Given the description of an element on the screen output the (x, y) to click on. 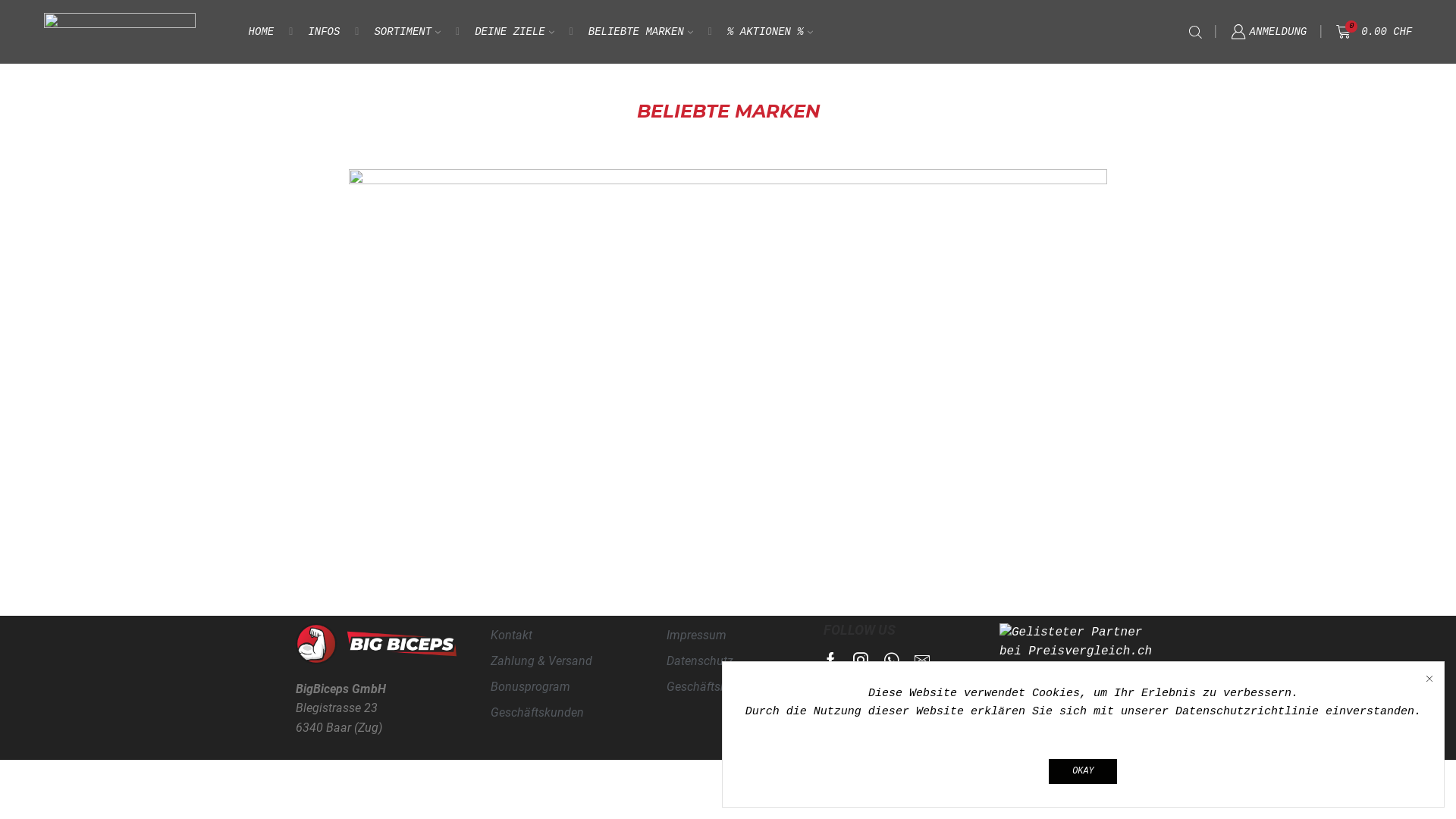
BELIEBTE MARKEN Element type: text (640, 31)
HOME Element type: text (261, 31)
ANMELDUNG Element type: text (1268, 31)
Bonusprogram Element type: text (551, 686)
Zahlung & Versand Element type: text (551, 661)
Datenschutz Element type: text (727, 661)
HOME Element type: text (722, 97)
0
0.00 CHF Element type: text (1374, 31)
Kontakt Element type: text (551, 636)
SORTIMENT Element type: text (406, 31)
Gelisteter Partner bei Preisvergleich.ch Element type: hover (1079, 642)
DEINE ZIELE Element type: text (513, 31)
Impressum Element type: text (727, 636)
% AKTIONEN % Element type: text (770, 31)
INFOS Element type: text (323, 31)
